Given the description of an element on the screen output the (x, y) to click on. 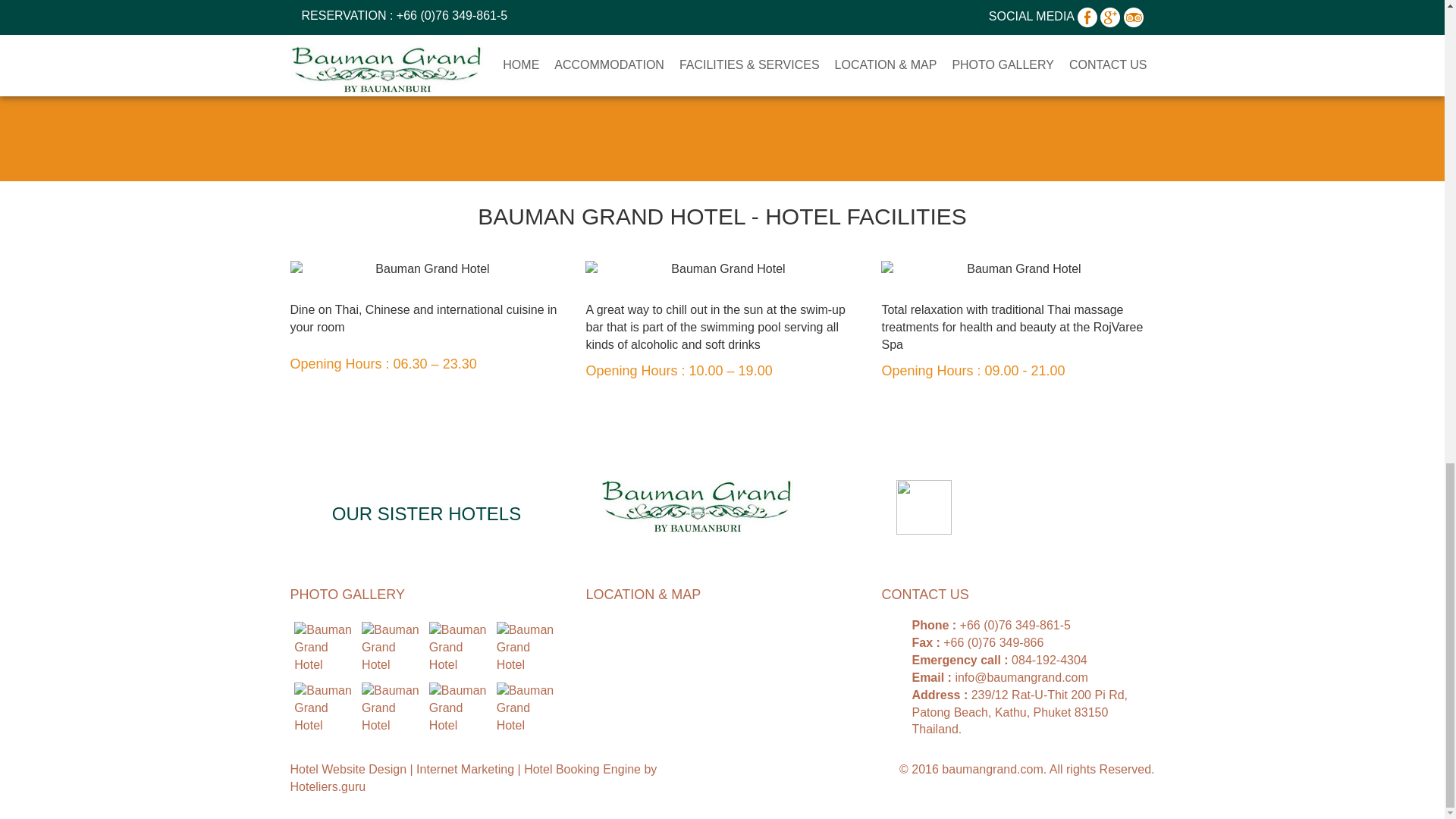
Hoteliers.guru (327, 786)
Bauman Grand Hotel (525, 707)
Bauman Grand Hotel (525, 646)
Internet Marketing (466, 768)
Bauman Grand Hotel (390, 646)
Bauman Grand Hotel (323, 646)
Bauman Grand Hotel (323, 707)
Hotel Website Design (349, 768)
Hotel Booking Engine (583, 768)
Bauman Grand Hotel (458, 646)
